Given the description of an element on the screen output the (x, y) to click on. 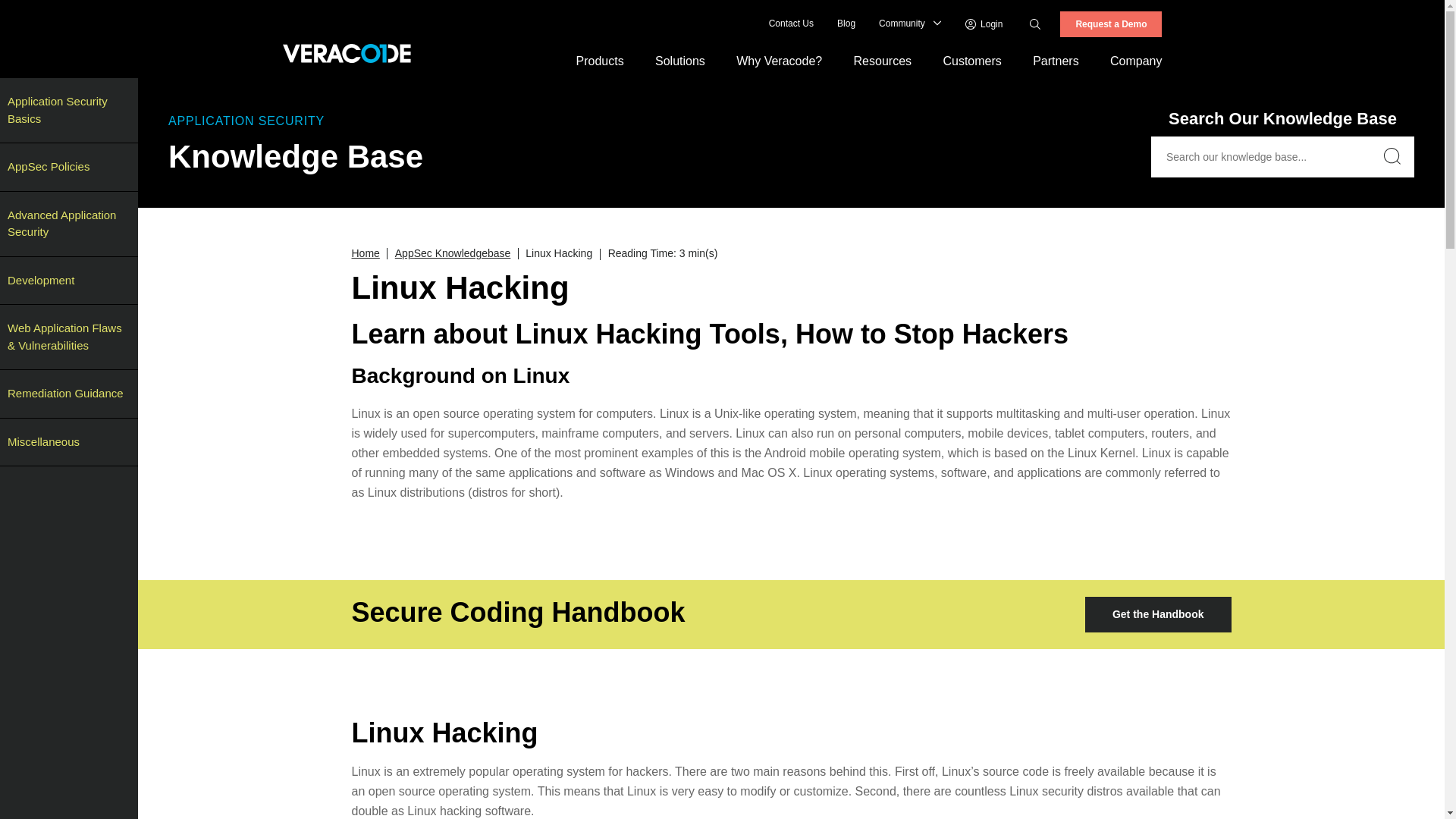
Request a Demo (1110, 23)
Veracode (345, 53)
Solutions (679, 61)
Enter the terms you wish to search for. (1051, 24)
Why Veracode? (779, 61)
Products (600, 61)
Login (984, 23)
Contact Us (790, 23)
Community (901, 23)
